Given the description of an element on the screen output the (x, y) to click on. 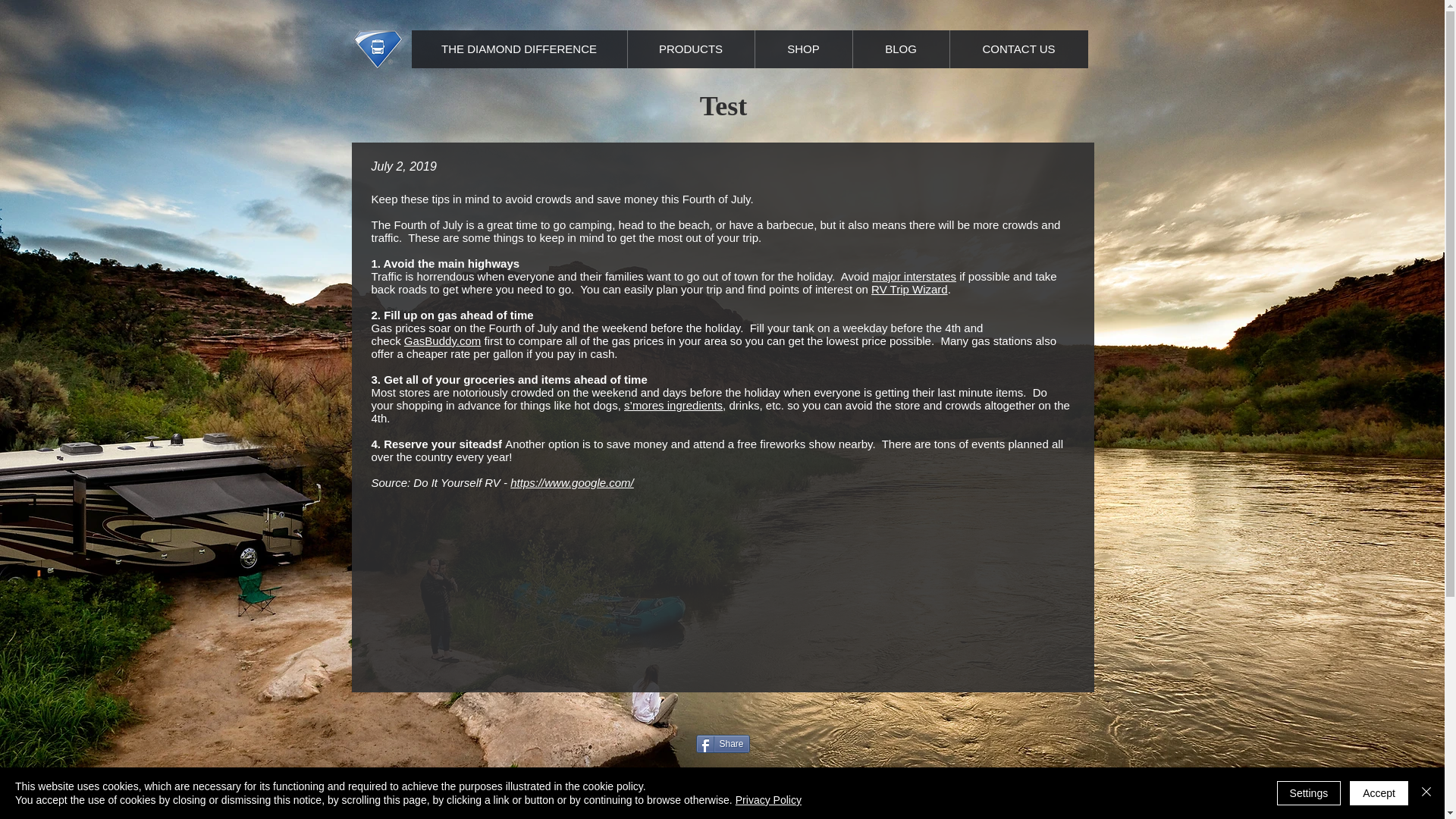
GasBuddy.com (442, 340)
CONTACT US (1018, 48)
Wix Chat (87, 794)
major interstates (914, 276)
THE DIAMOND DIFFERENCE (518, 48)
Share (722, 743)
BLOG (900, 48)
Share (722, 743)
RV Trip Wizard (908, 288)
0 (1418, 789)
0 (1418, 789)
SHOP (802, 48)
PRODUCTS (690, 48)
